Given the description of an element on the screen output the (x, y) to click on. 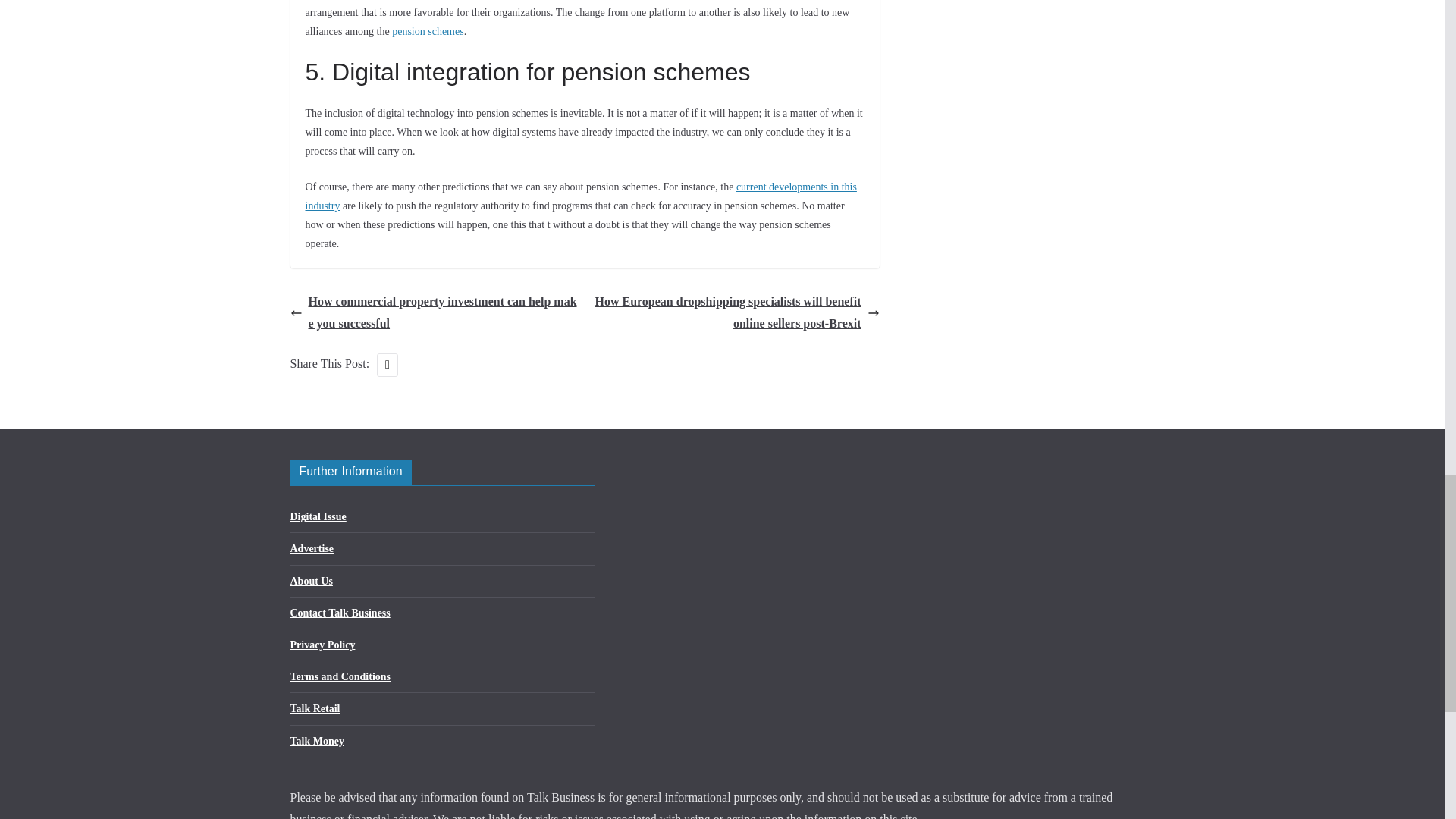
current developments in this industry (580, 195)
pension schemes (427, 30)
